Given the description of an element on the screen output the (x, y) to click on. 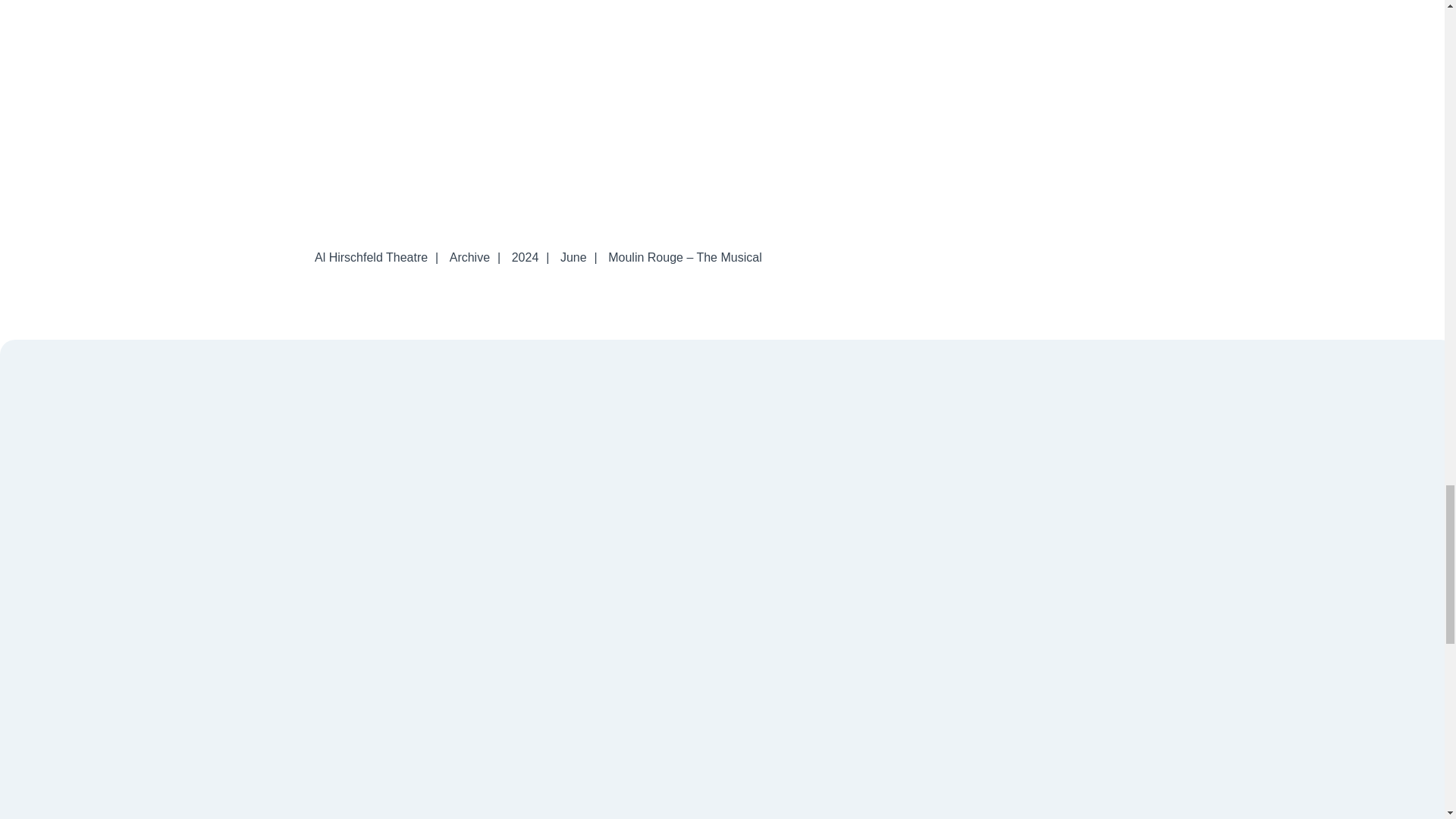
Archive (469, 256)
June (573, 256)
Al Hirschfeld Theatre (371, 256)
2024 (525, 256)
